Given the description of an element on the screen output the (x, y) to click on. 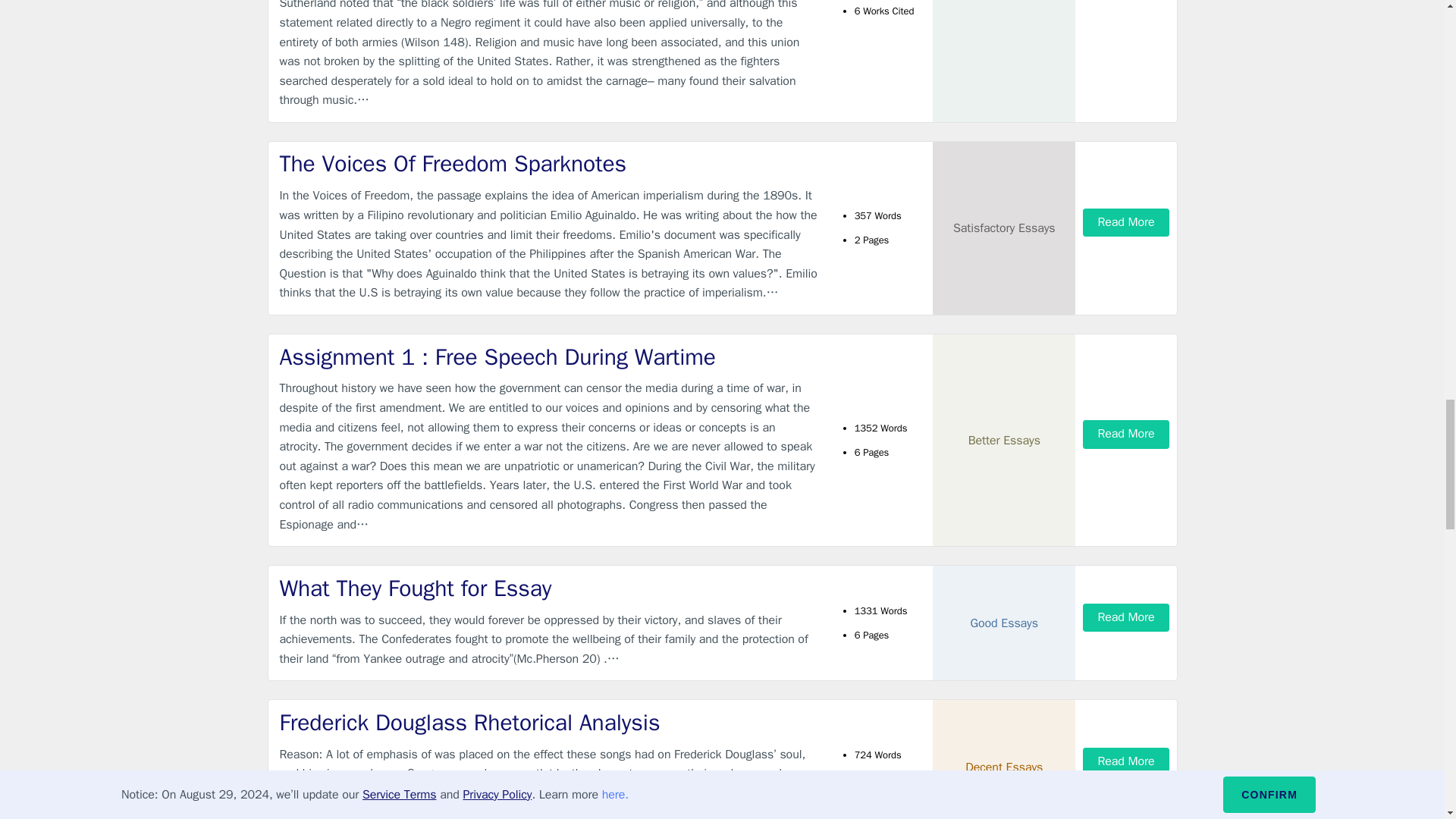
What They Fought for Essay (548, 588)
Read More (1126, 433)
Assignment 1 : Free Speech During Wartime (548, 357)
Read More (1126, 222)
The Voices Of Freedom Sparknotes (548, 163)
